Given the description of an element on the screen output the (x, y) to click on. 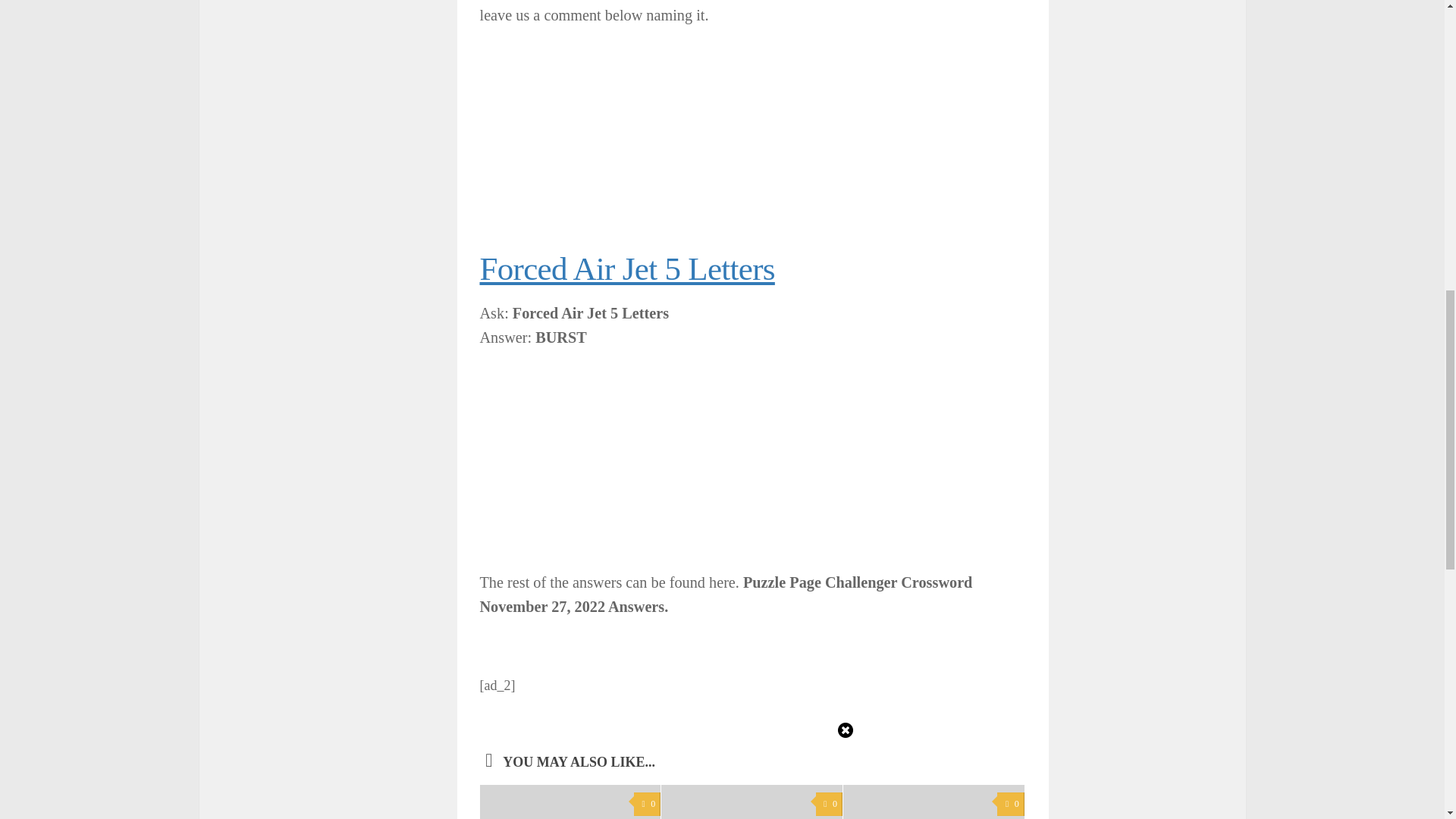
0 (829, 803)
0 (647, 803)
0 (1010, 803)
